Given the description of an element on the screen output the (x, y) to click on. 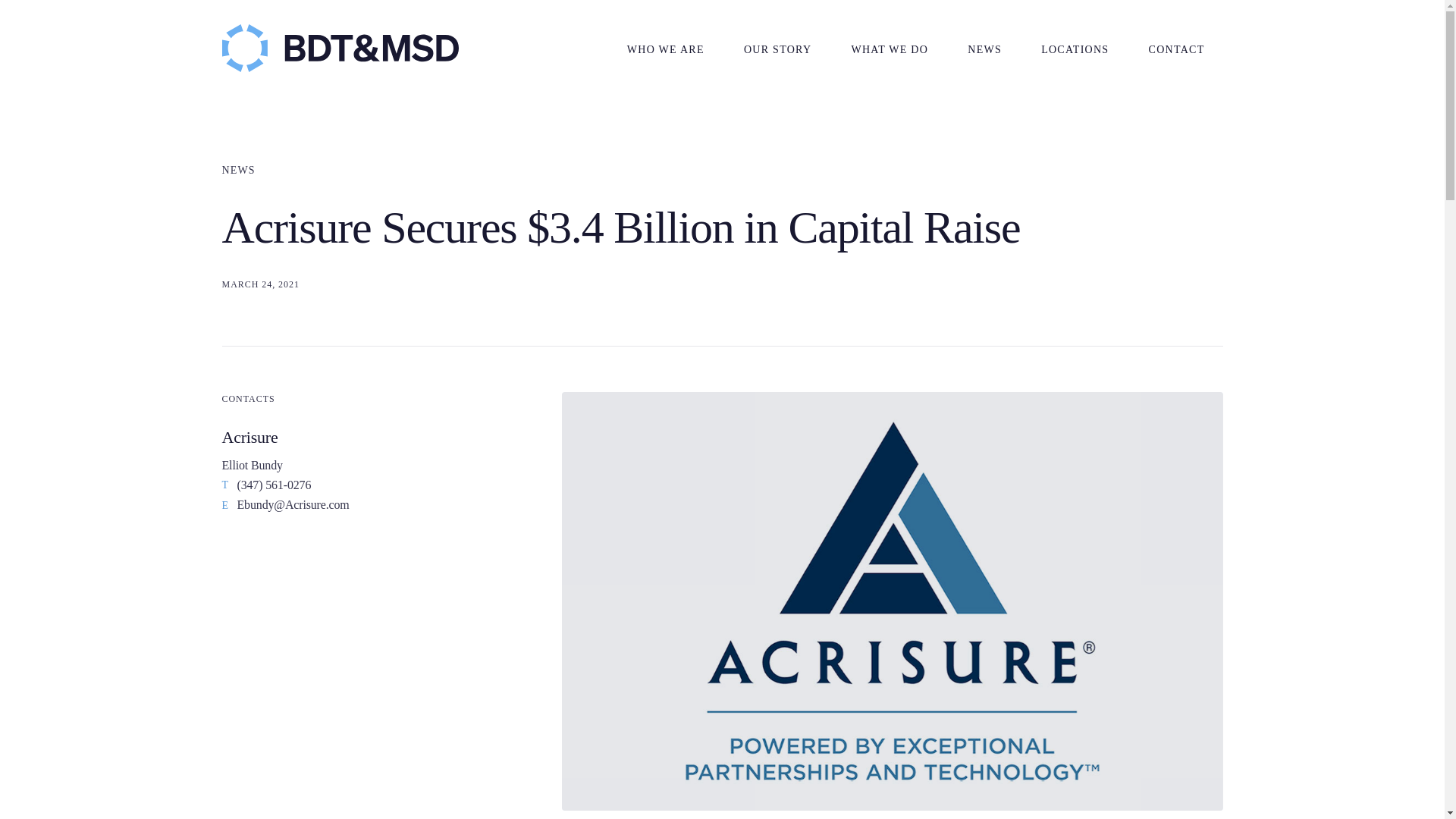
NEWS (984, 49)
OUR STORY (777, 49)
CONTACT (1176, 49)
WHO WE ARE (665, 49)
WHO WE ARE OUR STORY WHAT WE DO NEWS LOCATIONS CONTACT (915, 47)
LOCATIONS (1074, 49)
WHAT WE DO (889, 49)
